Given the description of an element on the screen output the (x, y) to click on. 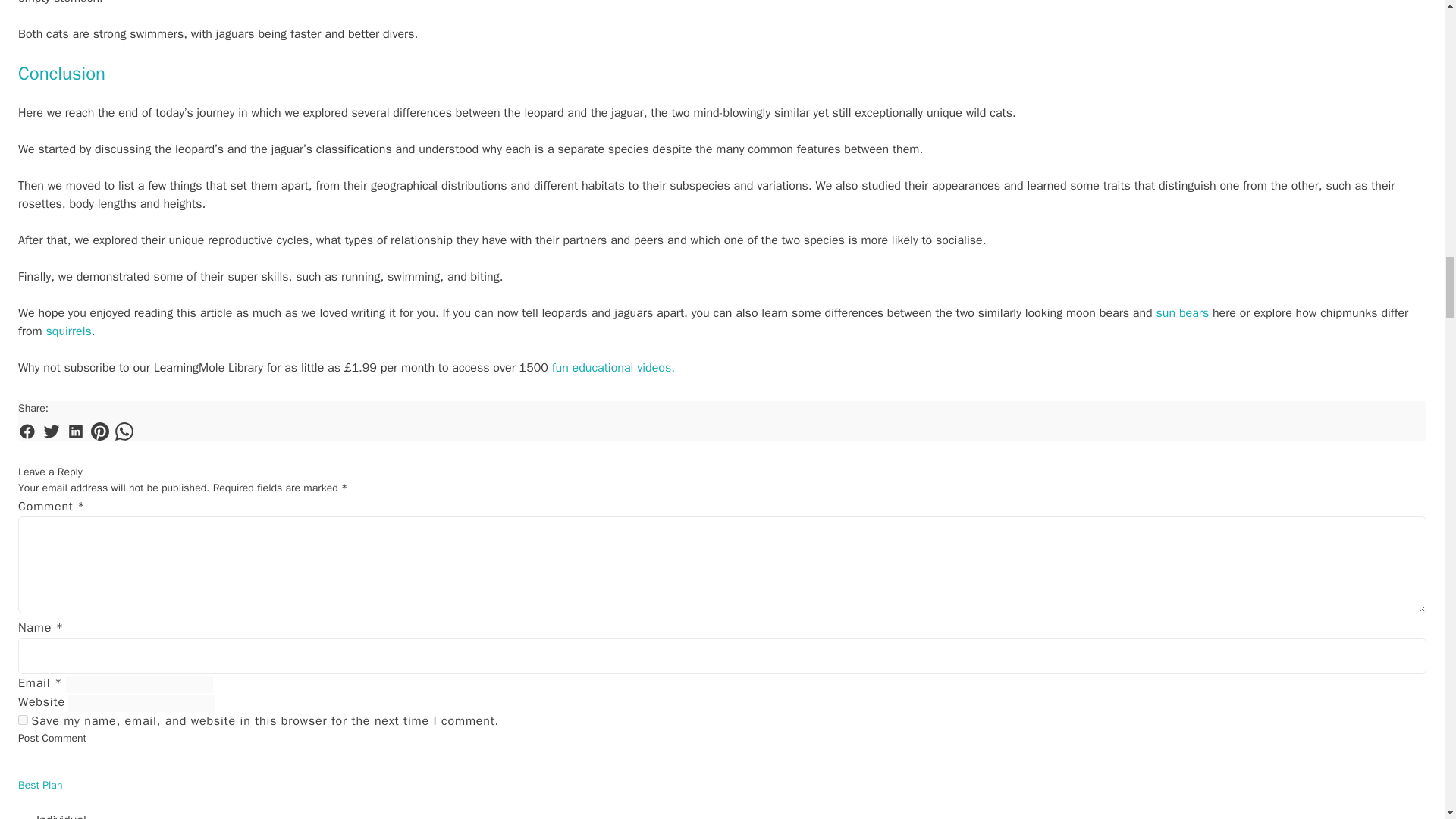
Post Comment (51, 738)
Click to share this post on Twitter (51, 431)
yes (22, 718)
